Given the description of an element on the screen output the (x, y) to click on. 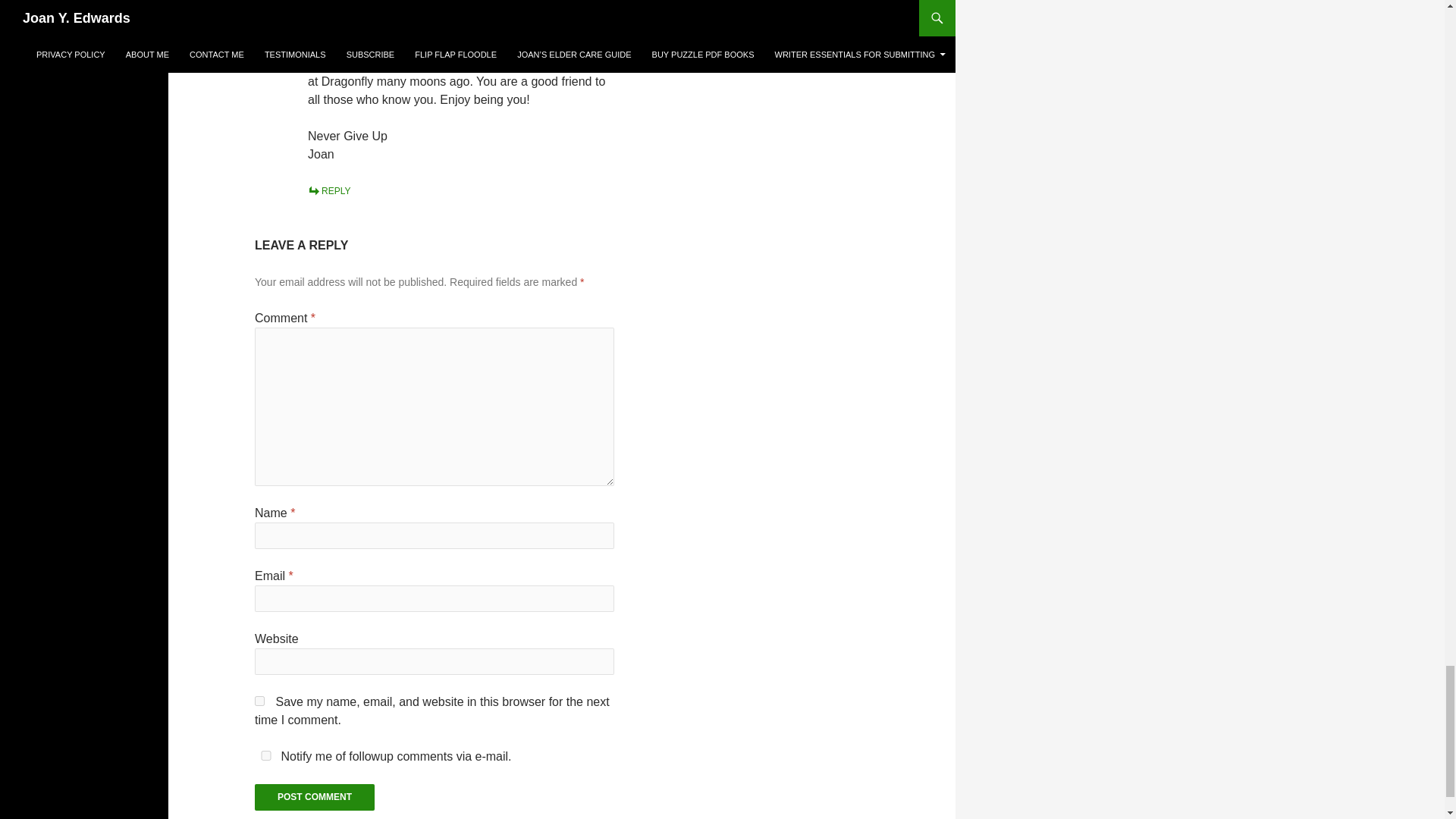
yes (266, 755)
yes (259, 700)
Post Comment (314, 796)
